Given the description of an element on the screen output the (x, y) to click on. 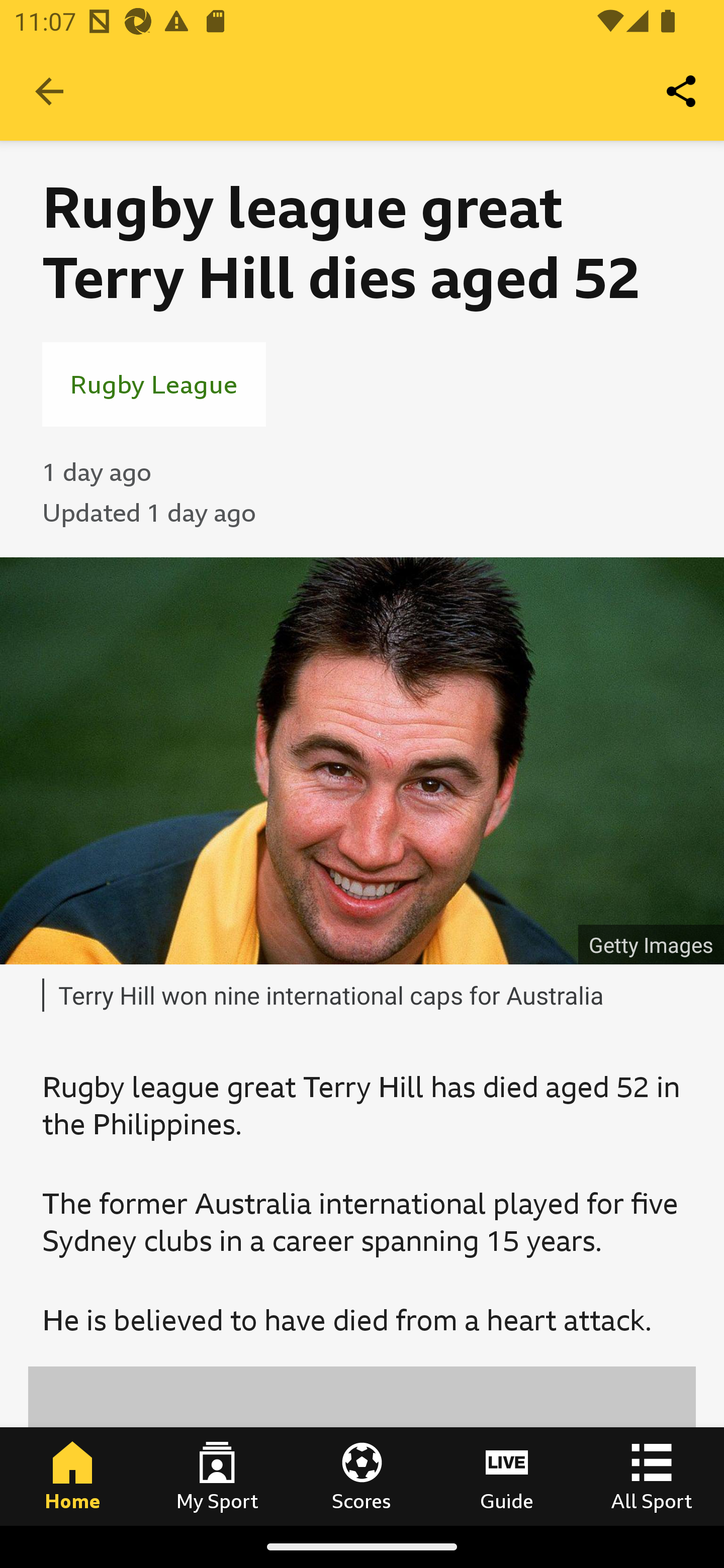
Navigate up (49, 91)
Share (681, 90)
Rugby League (153, 383)
My Sport (216, 1475)
Scores (361, 1475)
Guide (506, 1475)
All Sport (651, 1475)
